Given the description of an element on the screen output the (x, y) to click on. 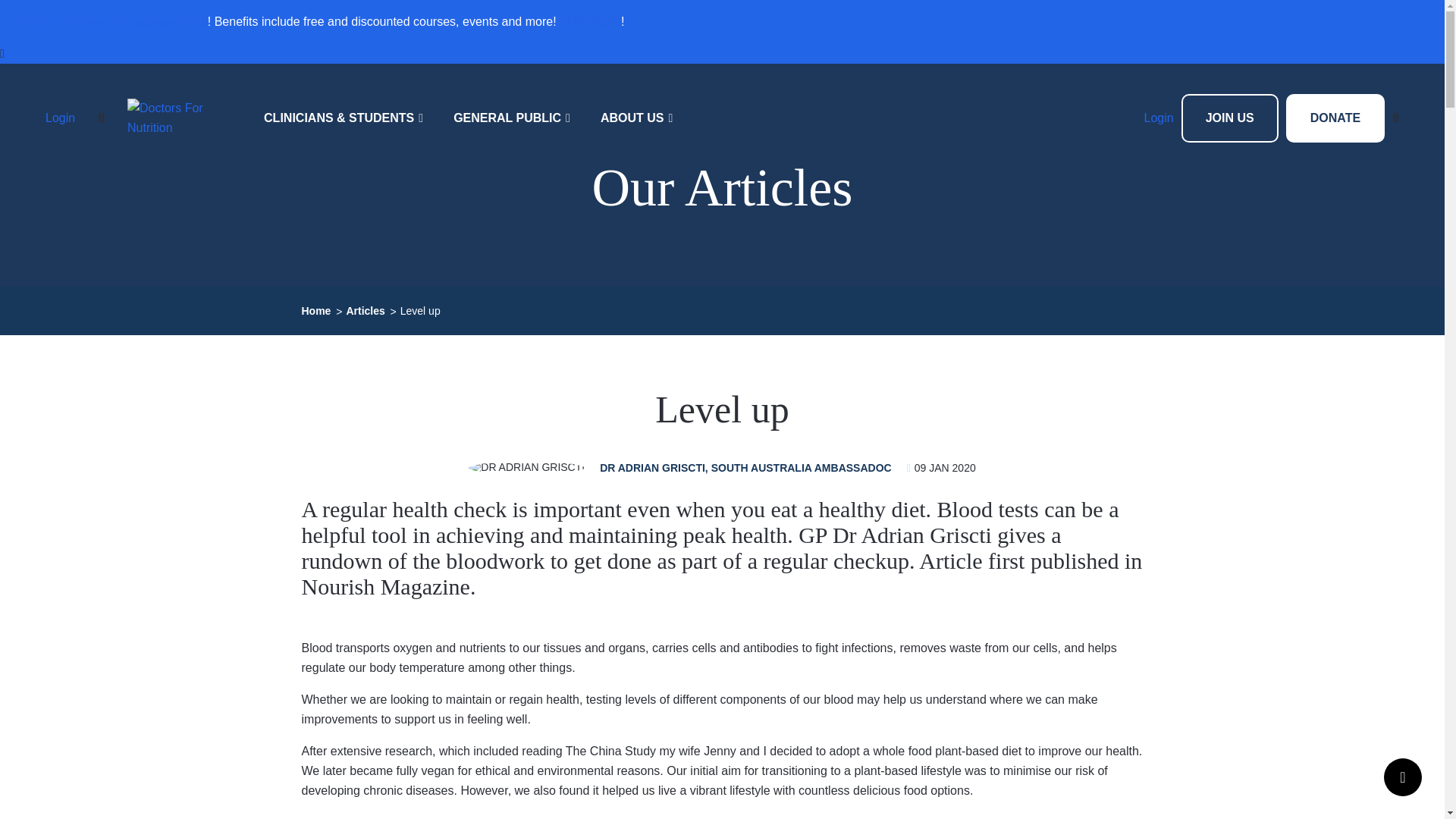
JOIN NOW (590, 21)
Join our Membership Program today (109, 21)
Login (60, 117)
GENERAL PUBLIC (511, 118)
